Given the description of an element on the screen output the (x, y) to click on. 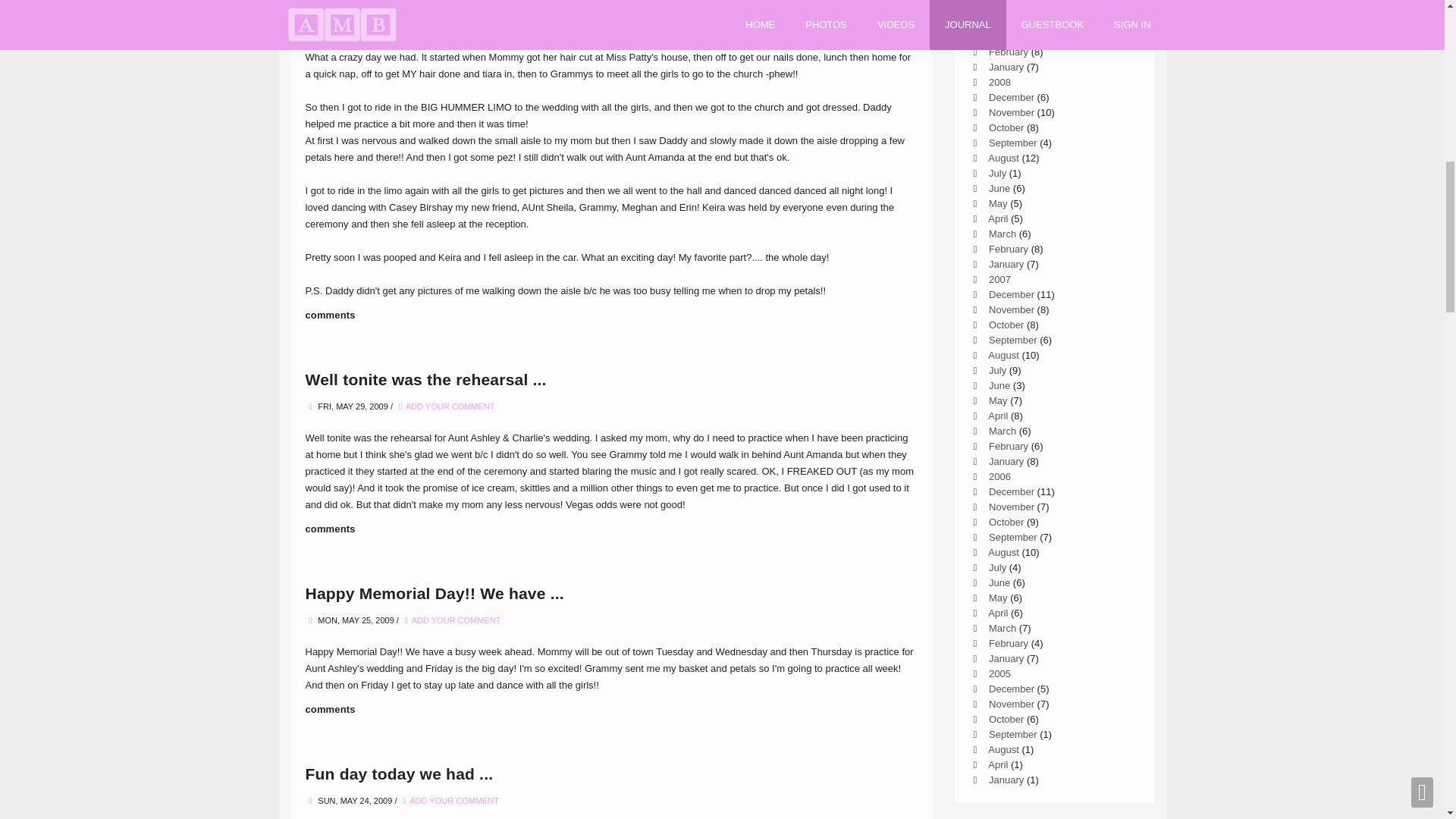
ADD YOUR COMMENT (450, 406)
ADD YOUR COMMENT (456, 619)
ADD YOUR COMMENT (454, 800)
